Given the description of an element on the screen output the (x, y) to click on. 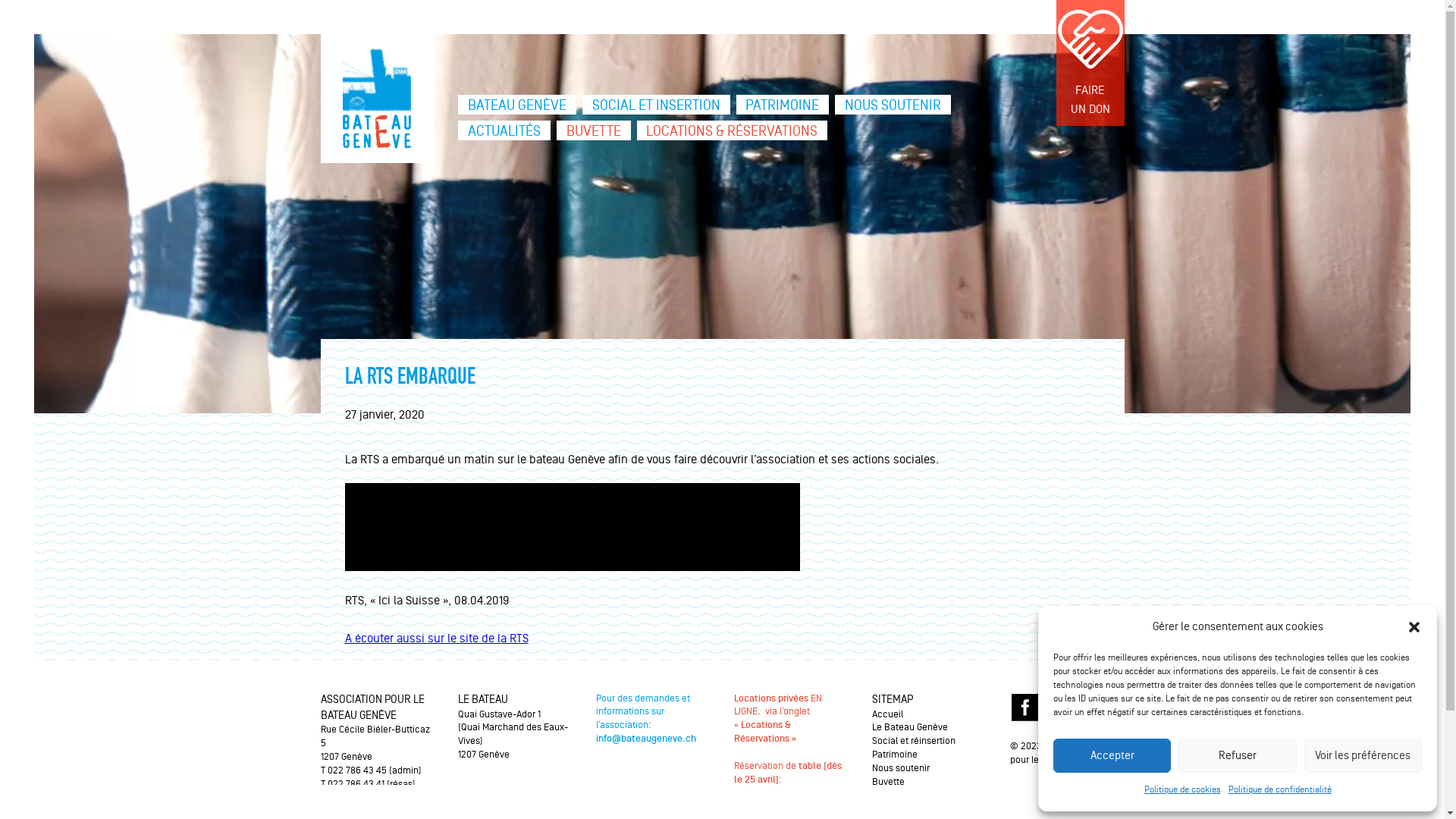
FAIRE
UN DON Element type: text (1089, 62)
NOUS SOUTENIR Element type: text (892, 104)
Patrimoine Element type: text (894, 754)
BUVETTE Element type: text (593, 130)
Nous soutenir Element type: text (900, 767)
Accepter Element type: text (1111, 755)
FACEBOOK Element type: text (1025, 707)
CANA Atelier Graphique Element type: text (1057, 807)
Refuser Element type: text (1236, 755)
Buvette Element type: text (888, 781)
info@bateaugeneve.ch Element type: text (646, 738)
SOCIAL ET INSERTION Element type: text (656, 104)
TWITTER Element type: text (1057, 707)
Accueil Element type: text (887, 714)
PATRIMOINE Element type: text (782, 104)
Politique de cookies Element type: text (1181, 790)
